Given the description of an element on the screen output the (x, y) to click on. 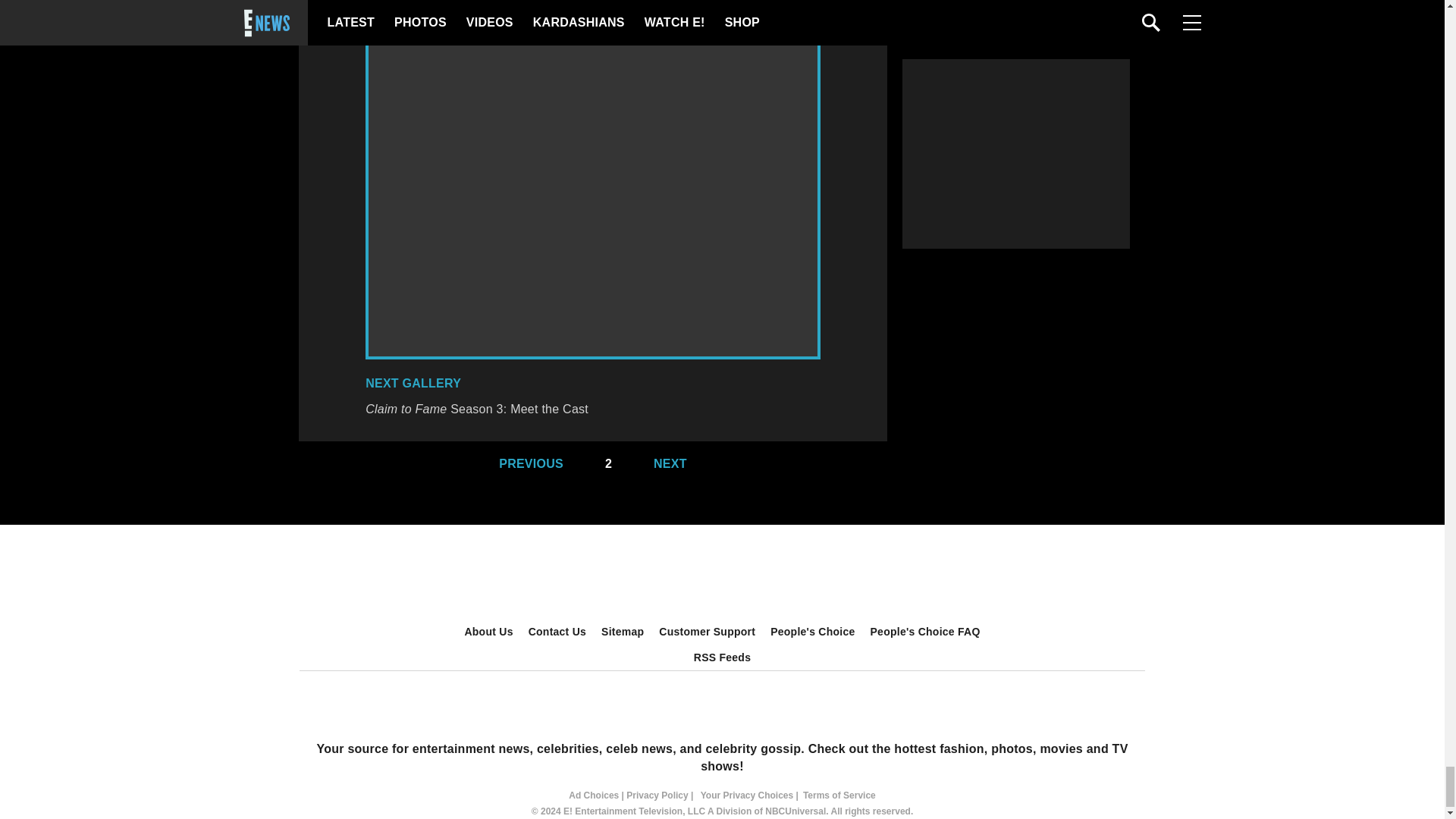
PREVIOUS (523, 464)
Next Page (677, 464)
Previous Page (523, 464)
